Given the description of an element on the screen output the (x, y) to click on. 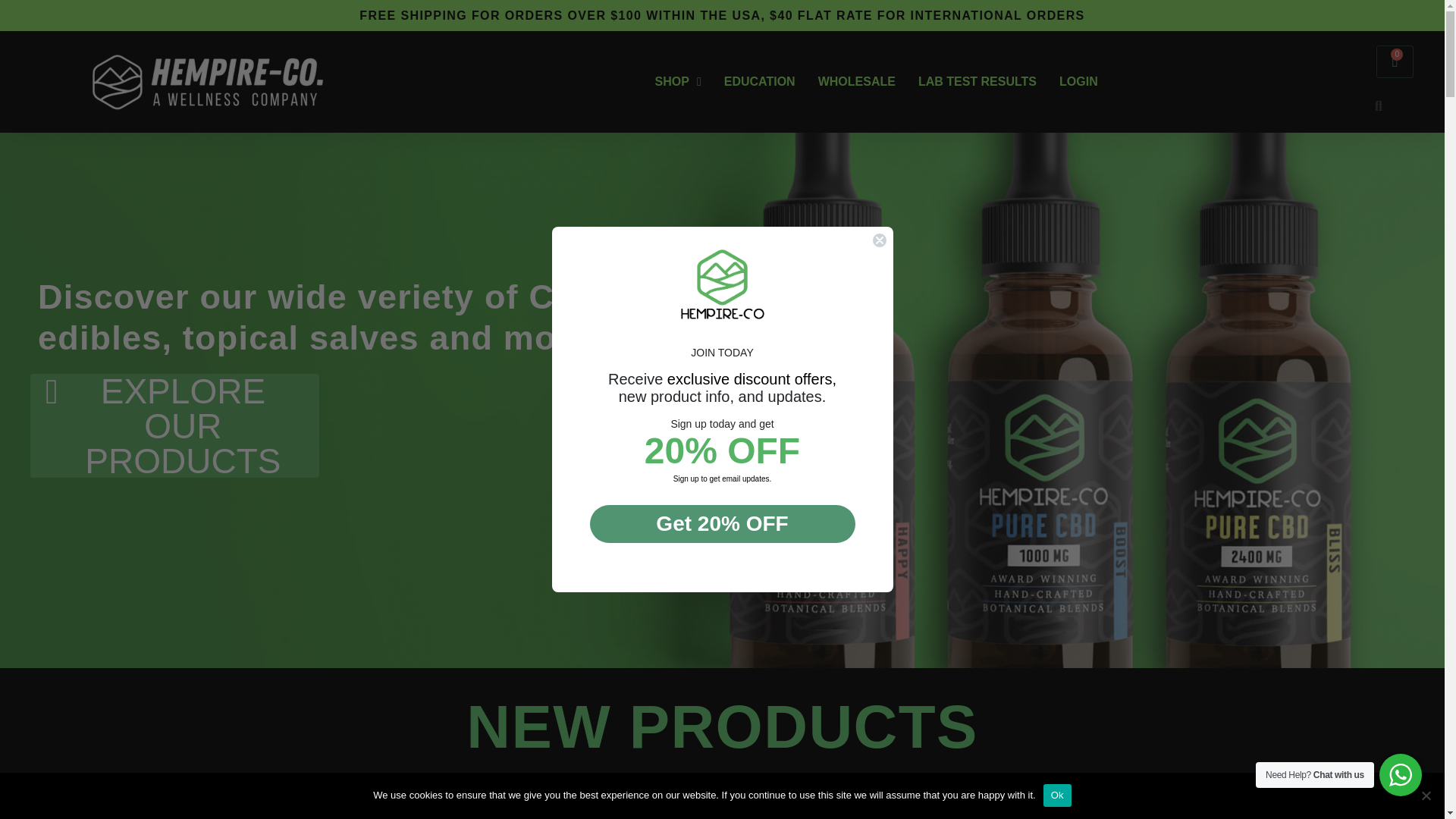
LAB TEST RESULTS (977, 81)
Home 2023 4 (1246, 810)
WHOLESALE (856, 81)
Home 2023 2 (547, 810)
LOGIN (1078, 81)
Home 2023 3 (1394, 61)
SHOP (897, 810)
Home 2023 1 (678, 81)
EDUCATION (197, 810)
